Given the description of an element on the screen output the (x, y) to click on. 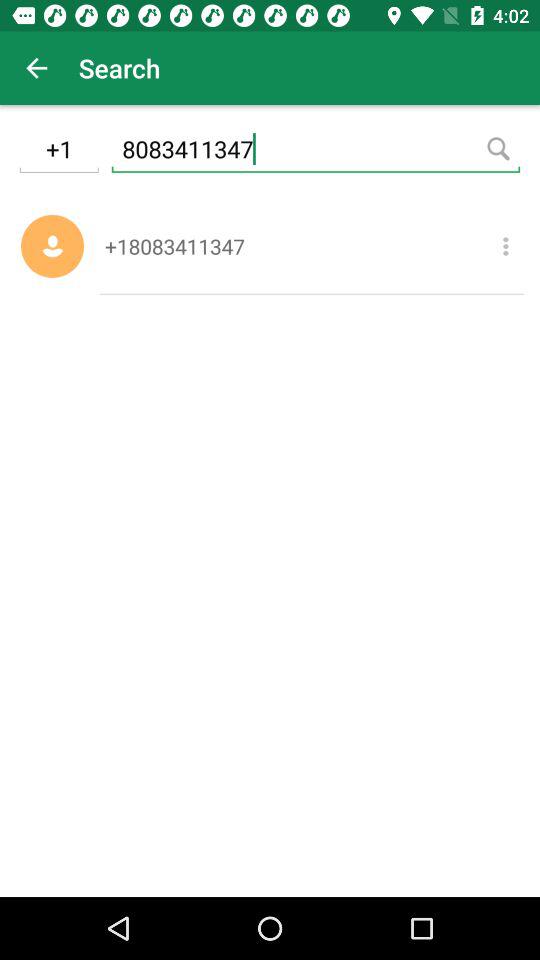
choose item next to +18083411347 icon (505, 246)
